Given the description of an element on the screen output the (x, y) to click on. 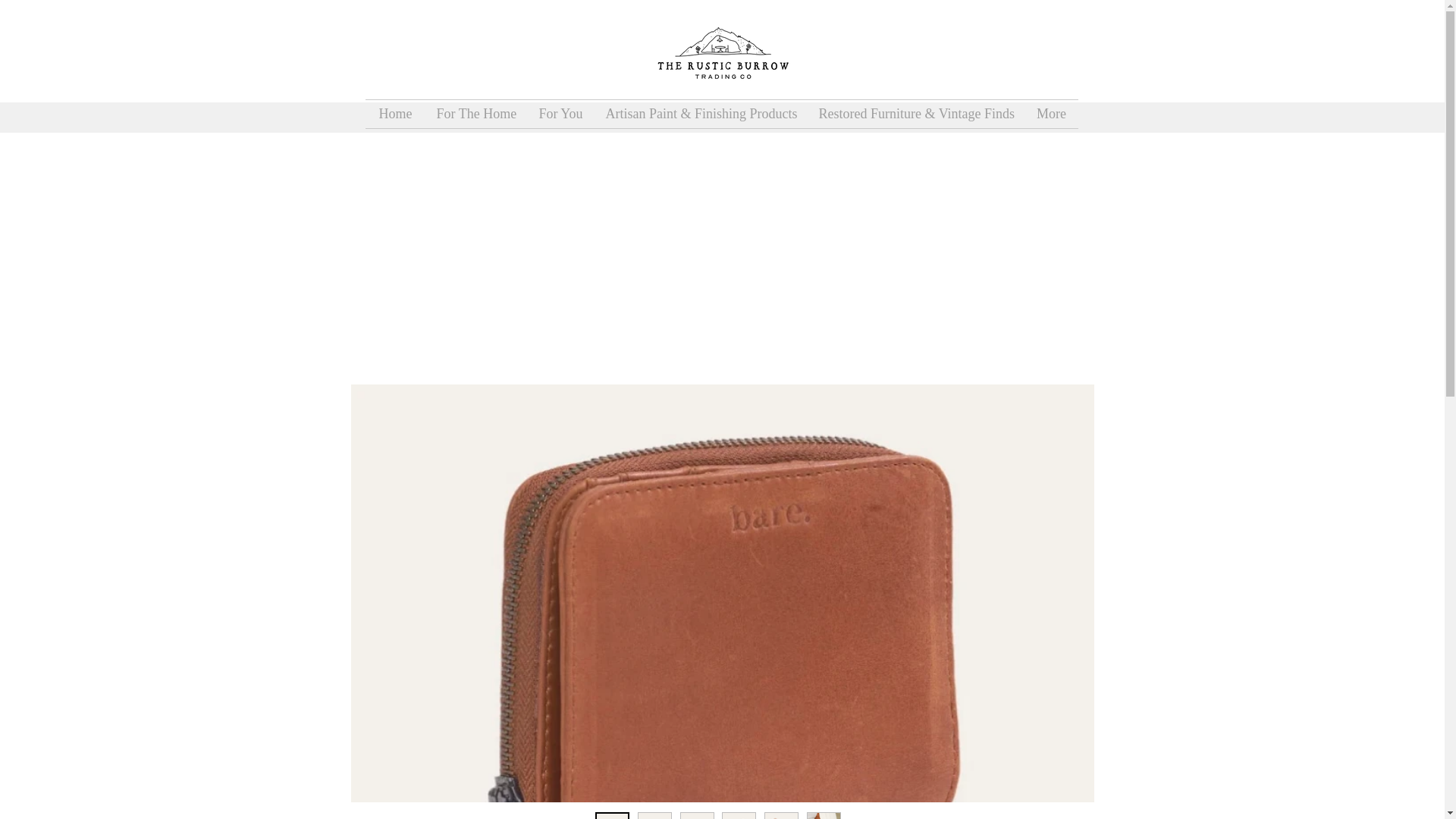
For The Home (476, 113)
For You (560, 113)
Home (395, 113)
